Given the description of an element on the screen output the (x, y) to click on. 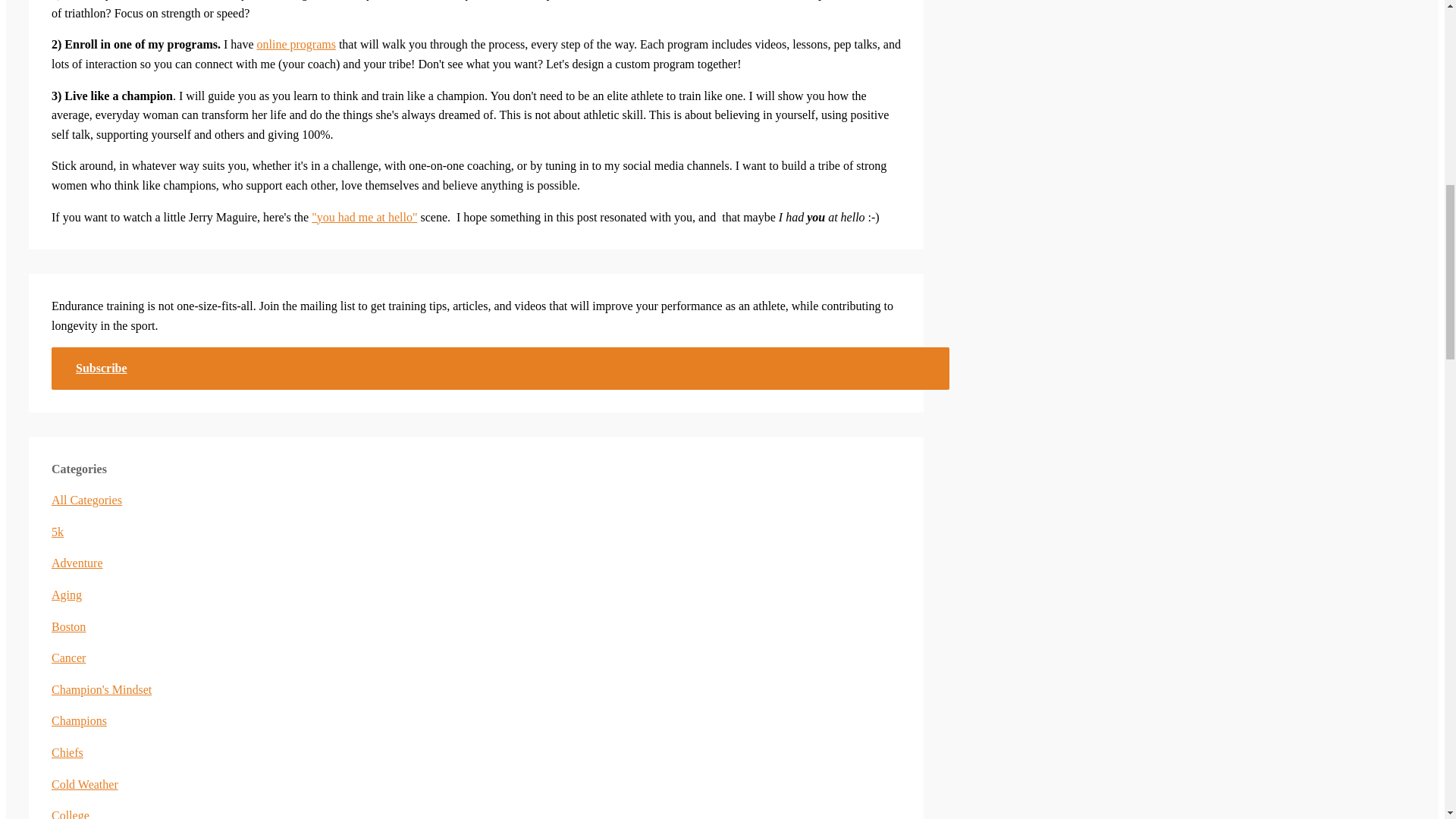
Cold Weather (83, 784)
Champion'S Mindset (100, 689)
Subscribe (499, 368)
Champions (78, 720)
online programs (295, 43)
Adventure (76, 562)
"you had me at hello" (363, 216)
Chiefs (66, 752)
College (69, 814)
5k (57, 531)
Aging (65, 594)
Boston (67, 626)
All Categories (86, 499)
Cancer (67, 657)
